Given the description of an element on the screen output the (x, y) to click on. 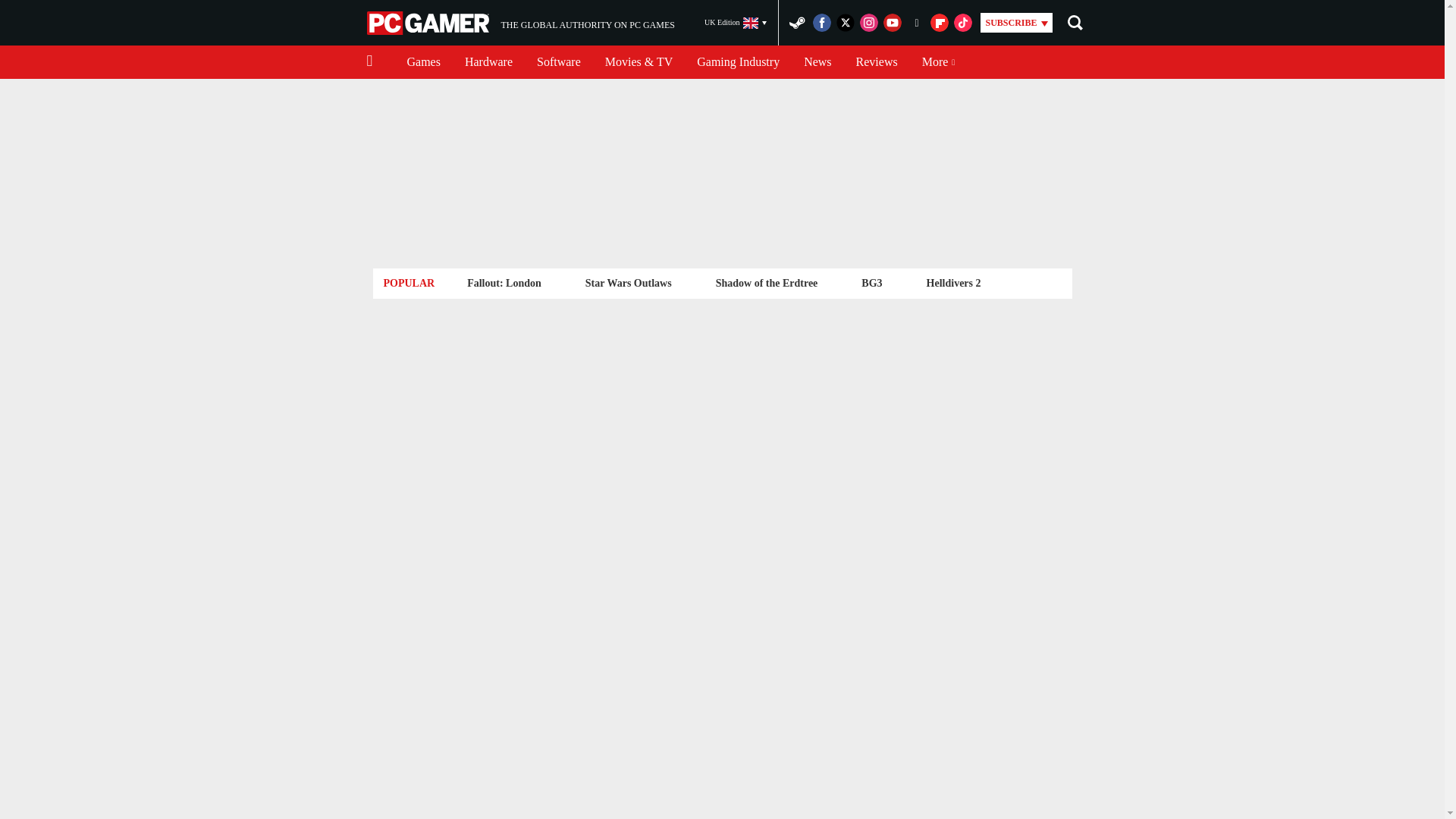
PC Gamer (429, 22)
Gaming Industry (520, 22)
Reviews (738, 61)
Fallout: London (877, 61)
Software (504, 282)
Star Wars Outlaws (558, 61)
Hardware (628, 282)
UK Edition (488, 61)
News (735, 22)
